Given the description of an element on the screen output the (x, y) to click on. 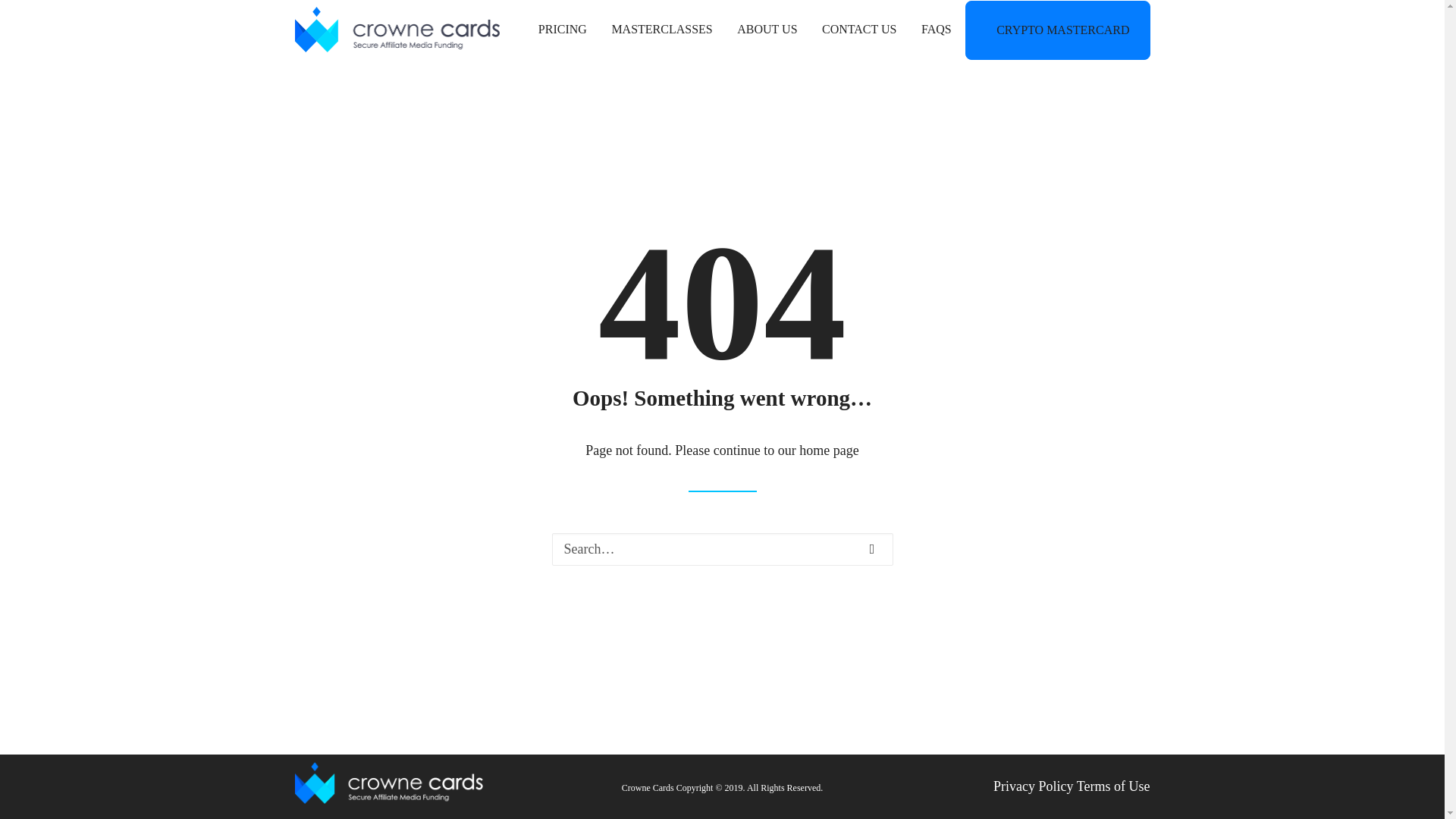
CONTACT US (858, 29)
home page (829, 450)
Search for: (722, 549)
Crypto Mastercard (1057, 29)
FAQs (936, 29)
Masterclasses (660, 29)
Contact Us (858, 29)
MASTERCLASSES (660, 29)
Privacy Policy (1033, 785)
PRICING (567, 29)
CRYPTO MASTERCARD (1057, 29)
FAQS (936, 29)
Pricing (567, 29)
ABOUT US (767, 29)
Terms of Use (1113, 785)
